Given the description of an element on the screen output the (x, y) to click on. 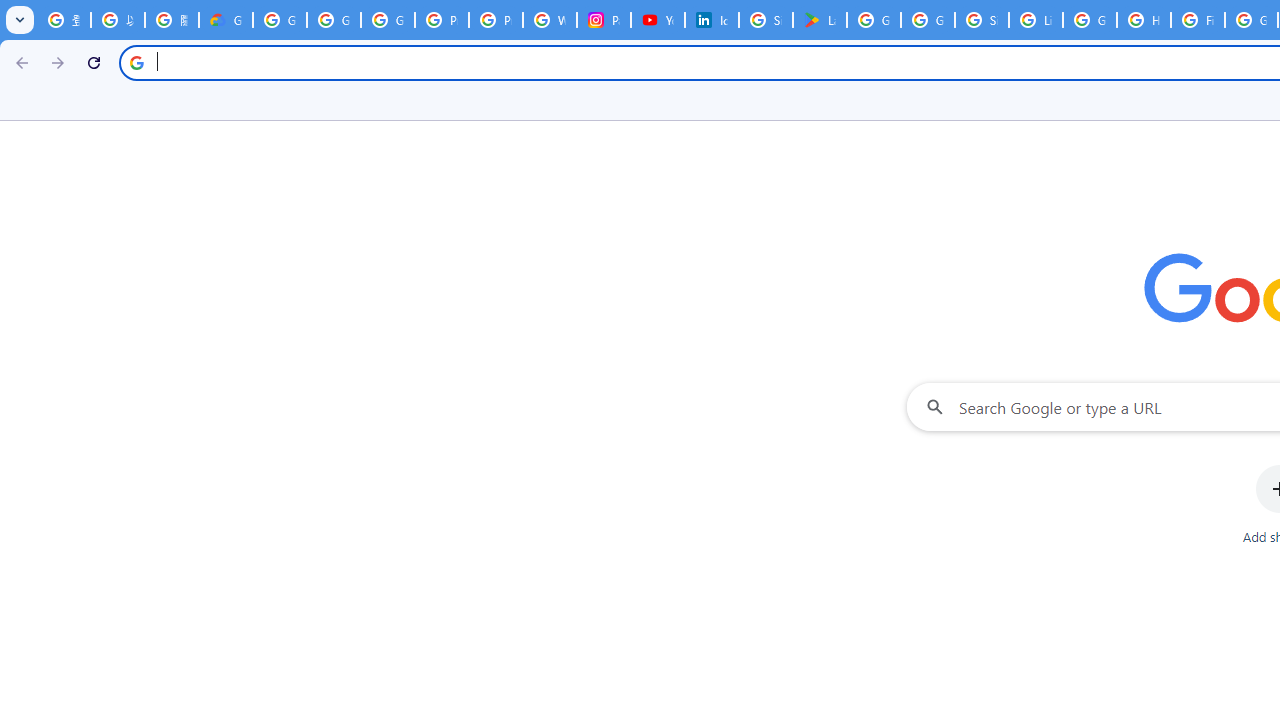
Google Workspace - Specific Terms (927, 20)
How do I create a new Google Account? - Google Account Help (1144, 20)
Privacy Help Center - Policies Help (495, 20)
Search icon (136, 62)
